Given the description of an element on the screen output the (x, y) to click on. 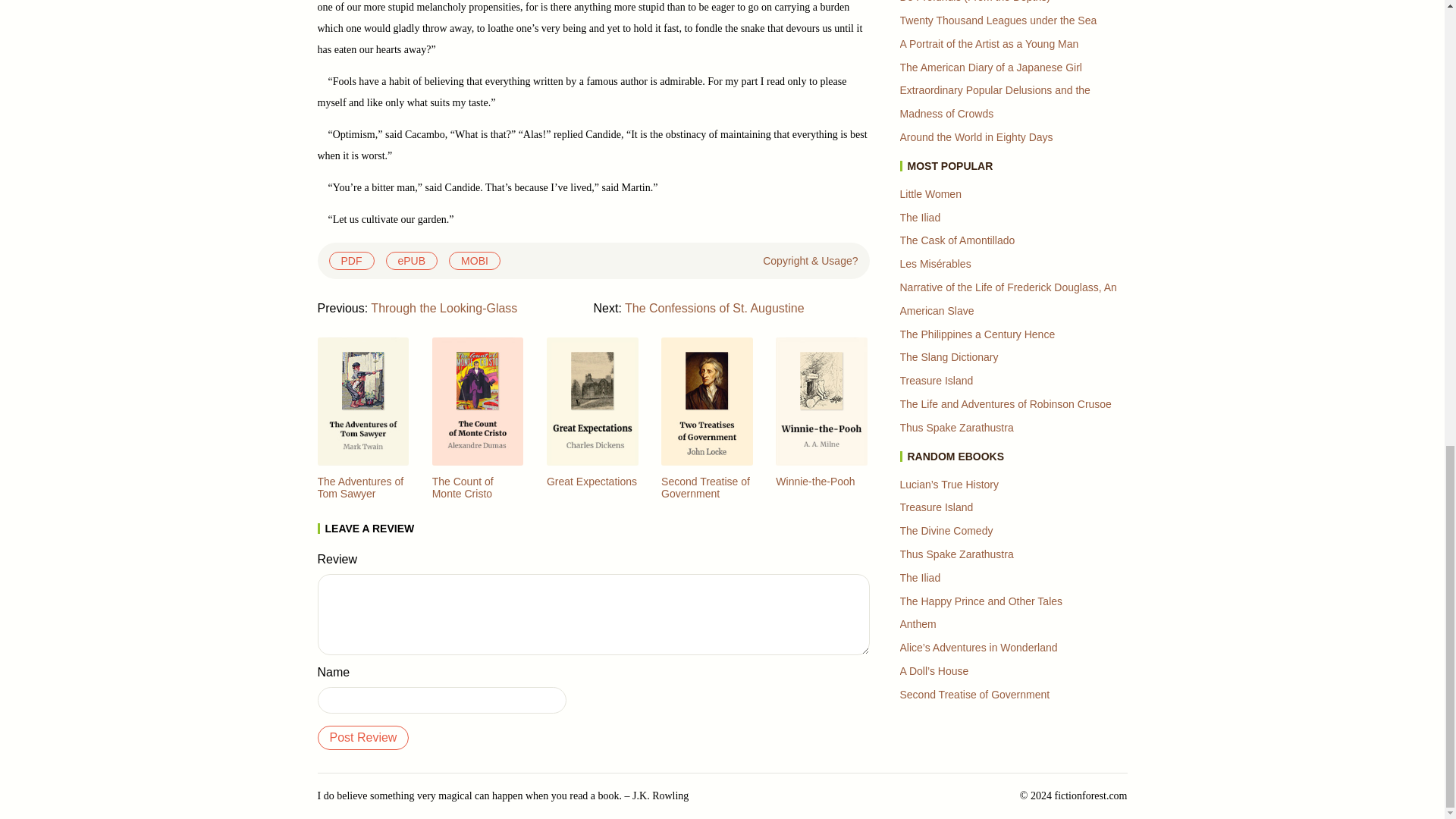
The Life and Adventures of Robinson Crusoe (1004, 404)
Winnie-the-Pooh (815, 481)
ePUB (411, 260)
Around the World in Eighty Days (975, 137)
The American Diary of a Japanese Girl (990, 67)
Twenty Thousand Leagues under the Sea (997, 20)
Post Review (363, 737)
Great Expectations (592, 481)
Treasure Island (935, 380)
The Iliad (919, 217)
PDF (351, 260)
Second Treatise of Government (706, 492)
A Portrait of the Artist as a Young Man (988, 43)
The Adventures of Tom Sawyer (363, 492)
